Given the description of an element on the screen output the (x, y) to click on. 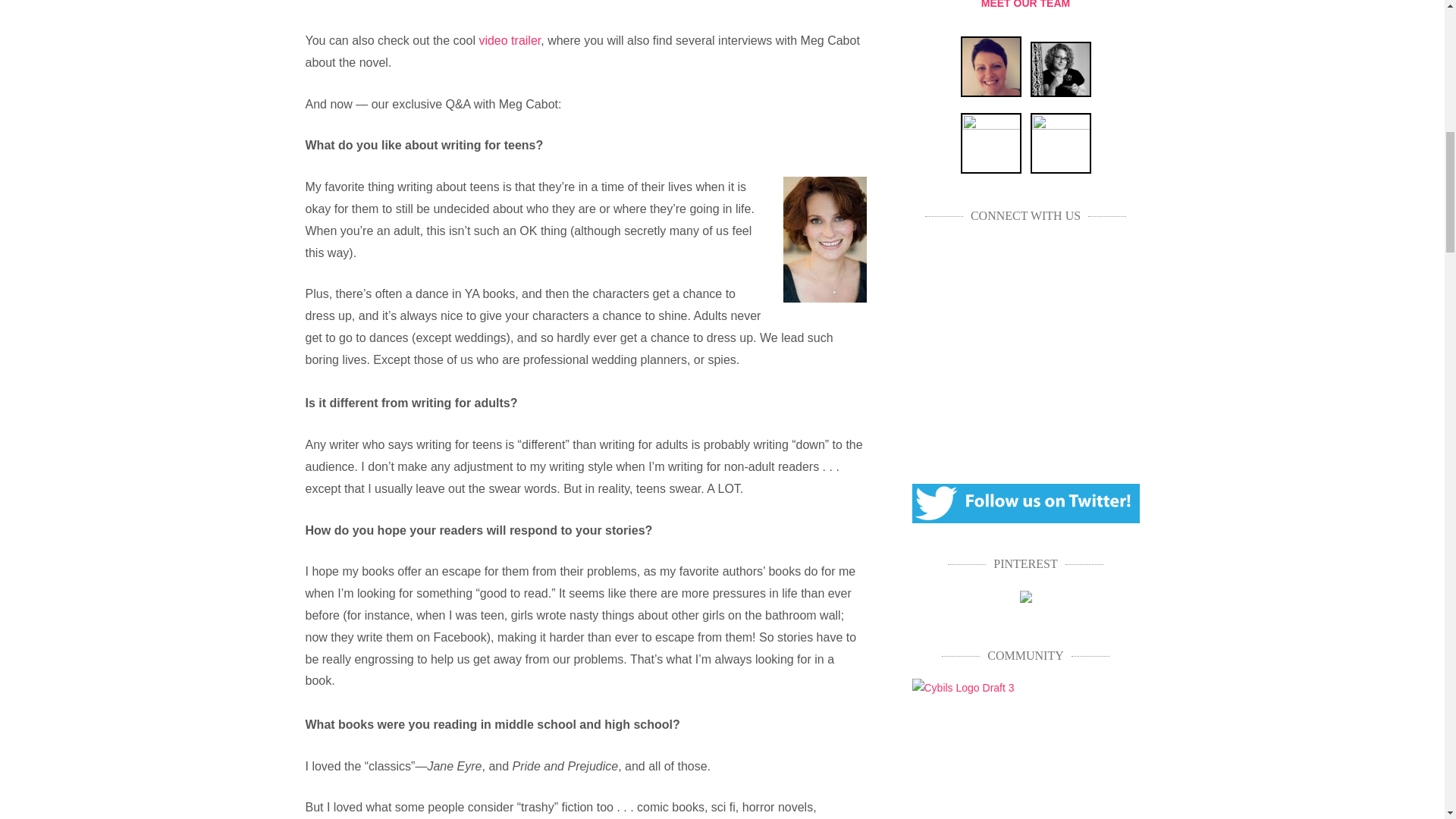
Dawn (989, 66)
video trailer (509, 40)
Michelle (989, 143)
Elizabeth (1059, 69)
Nancy (1059, 143)
